Given the description of an element on the screen output the (x, y) to click on. 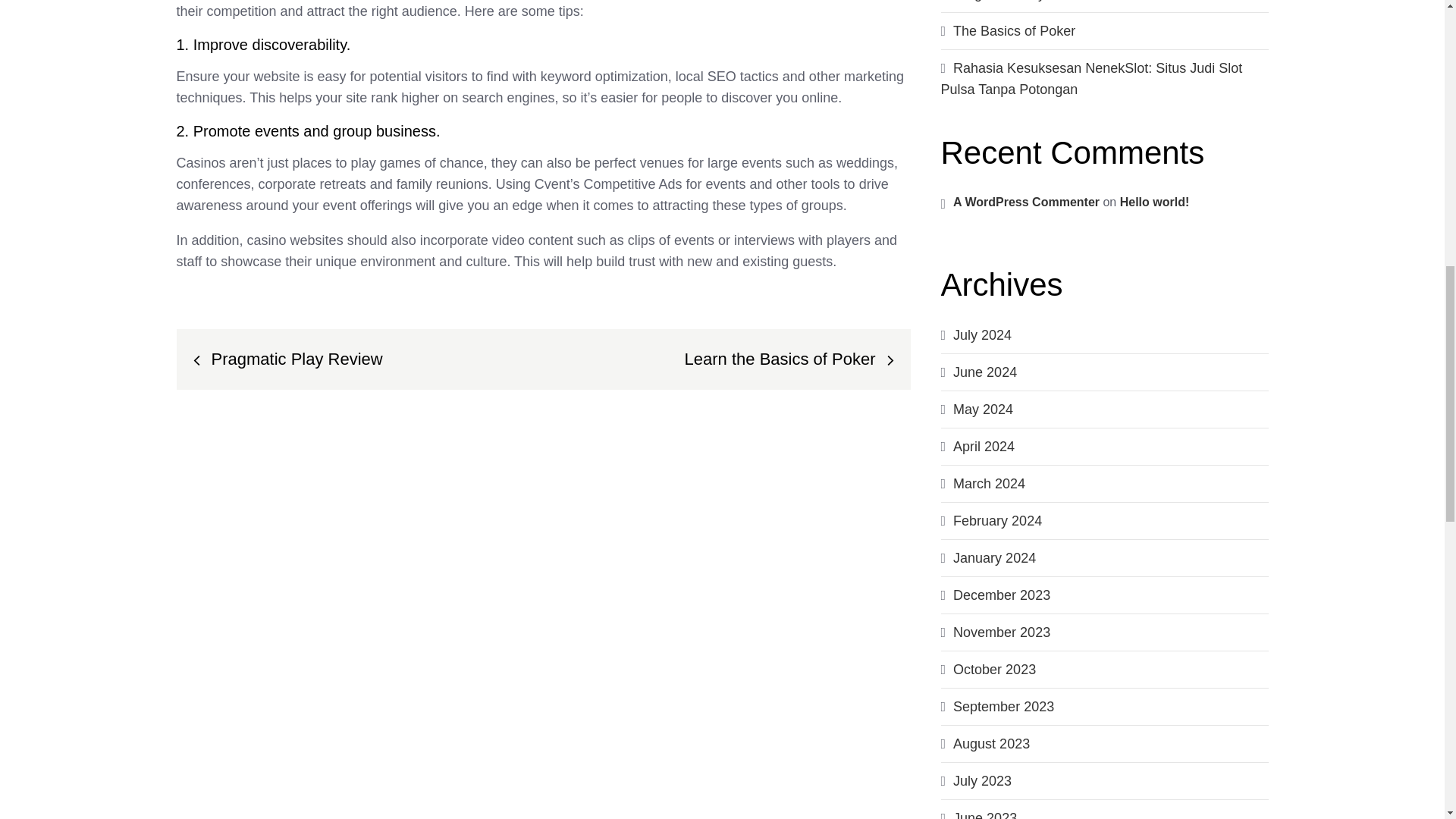
May 2024 (983, 409)
February 2024 (997, 520)
April 2024 (983, 446)
Hello world! (1154, 201)
October 2023 (994, 669)
June 2024 (984, 372)
January 2024 (994, 557)
Pragmatic Play Review (1023, 0)
December 2023 (1001, 595)
June 2023 (984, 814)
August 2023 (991, 743)
July 2024 (982, 335)
July 2023 (982, 780)
The Basics of Poker (1014, 30)
